Given the description of an element on the screen output the (x, y) to click on. 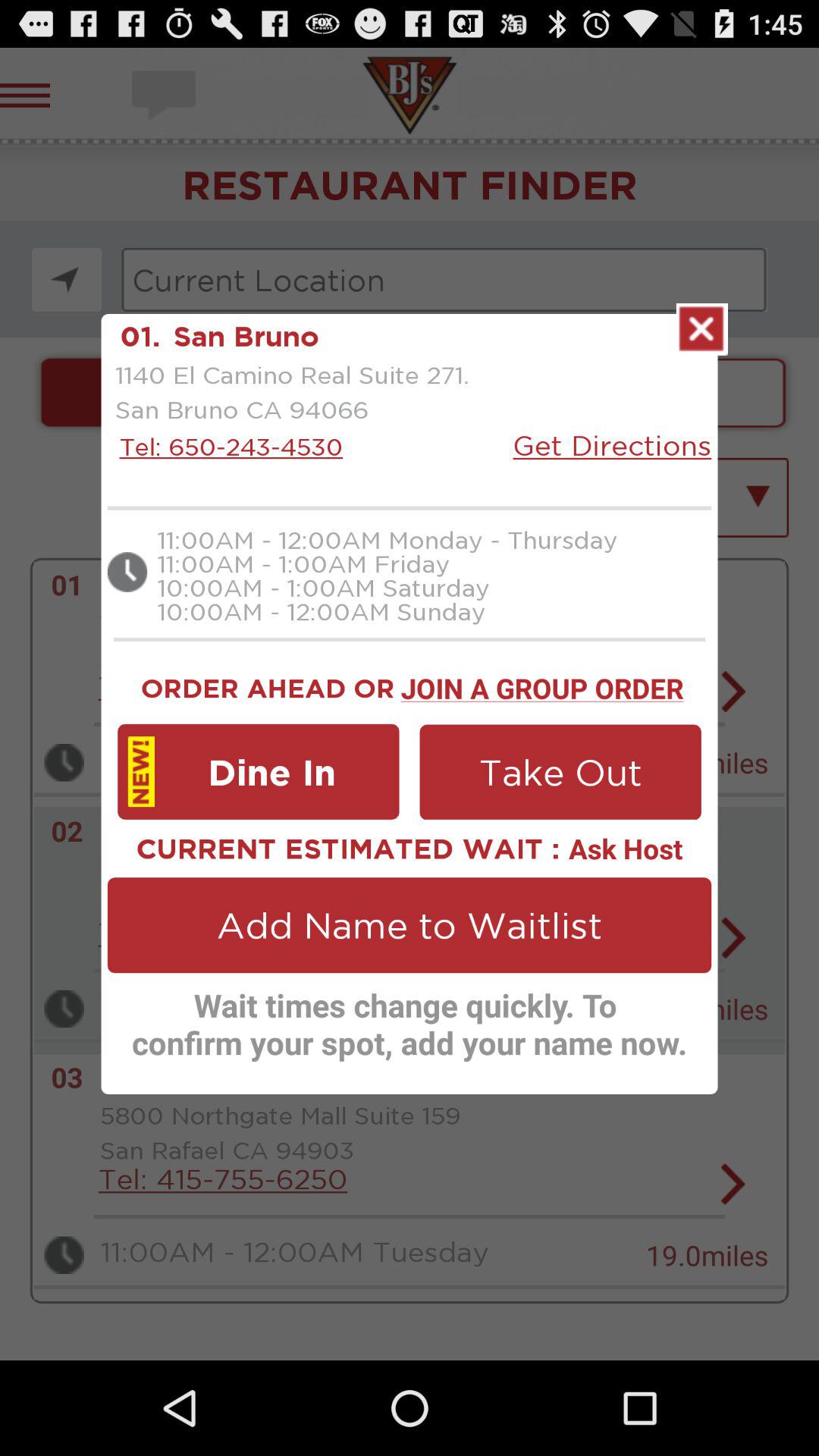
turn off app above current estimated wait :  icon (258, 771)
